Given the description of an element on the screen output the (x, y) to click on. 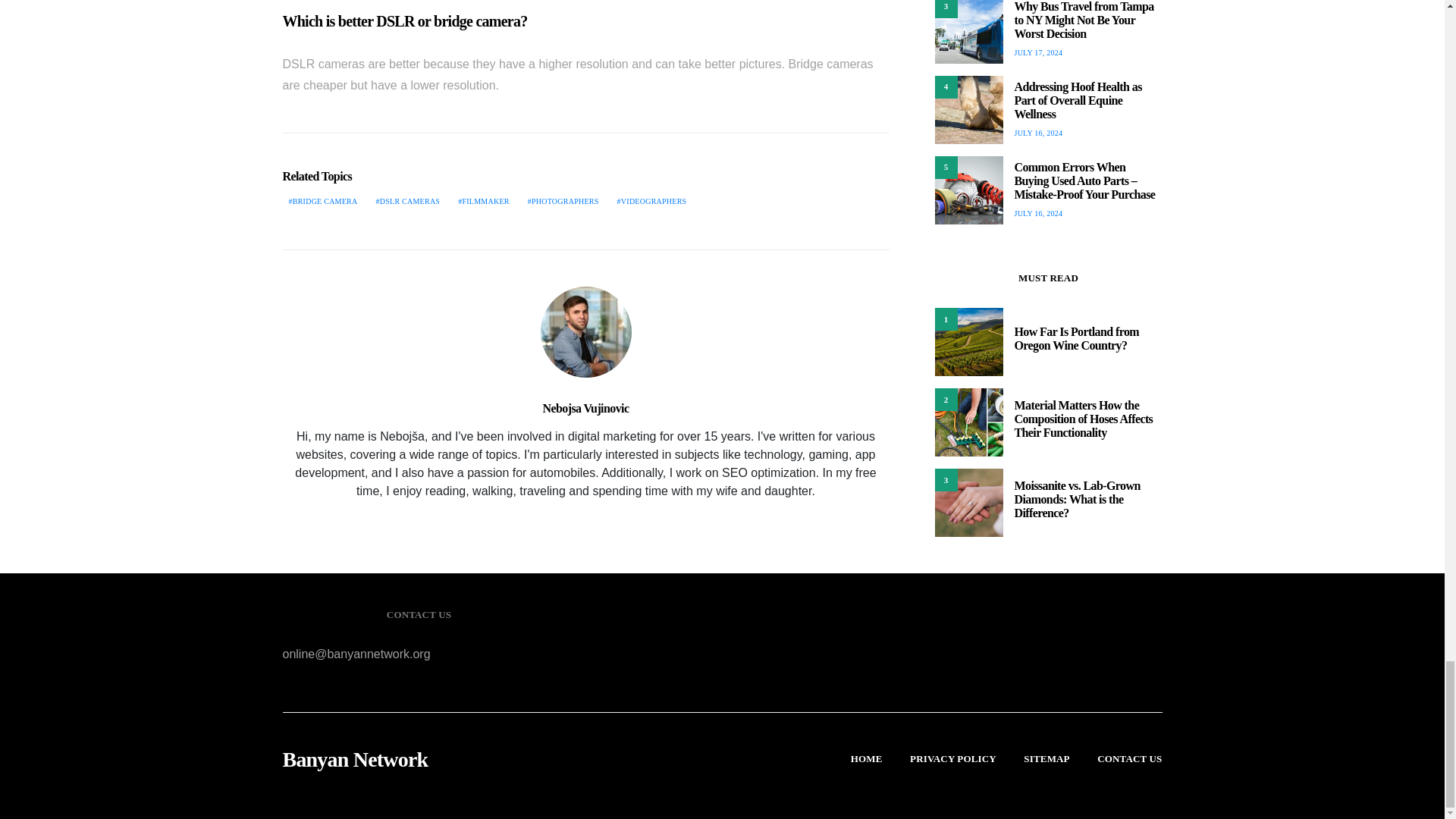
DSLR CAMERAS (407, 201)
VIDEOGRAPHERS (652, 201)
FILMMAKER (483, 201)
BRIDGE CAMERA (322, 201)
PHOTOGRAPHERS (563, 201)
Nebojsa Vujinovic (585, 408)
